Given the description of an element on the screen output the (x, y) to click on. 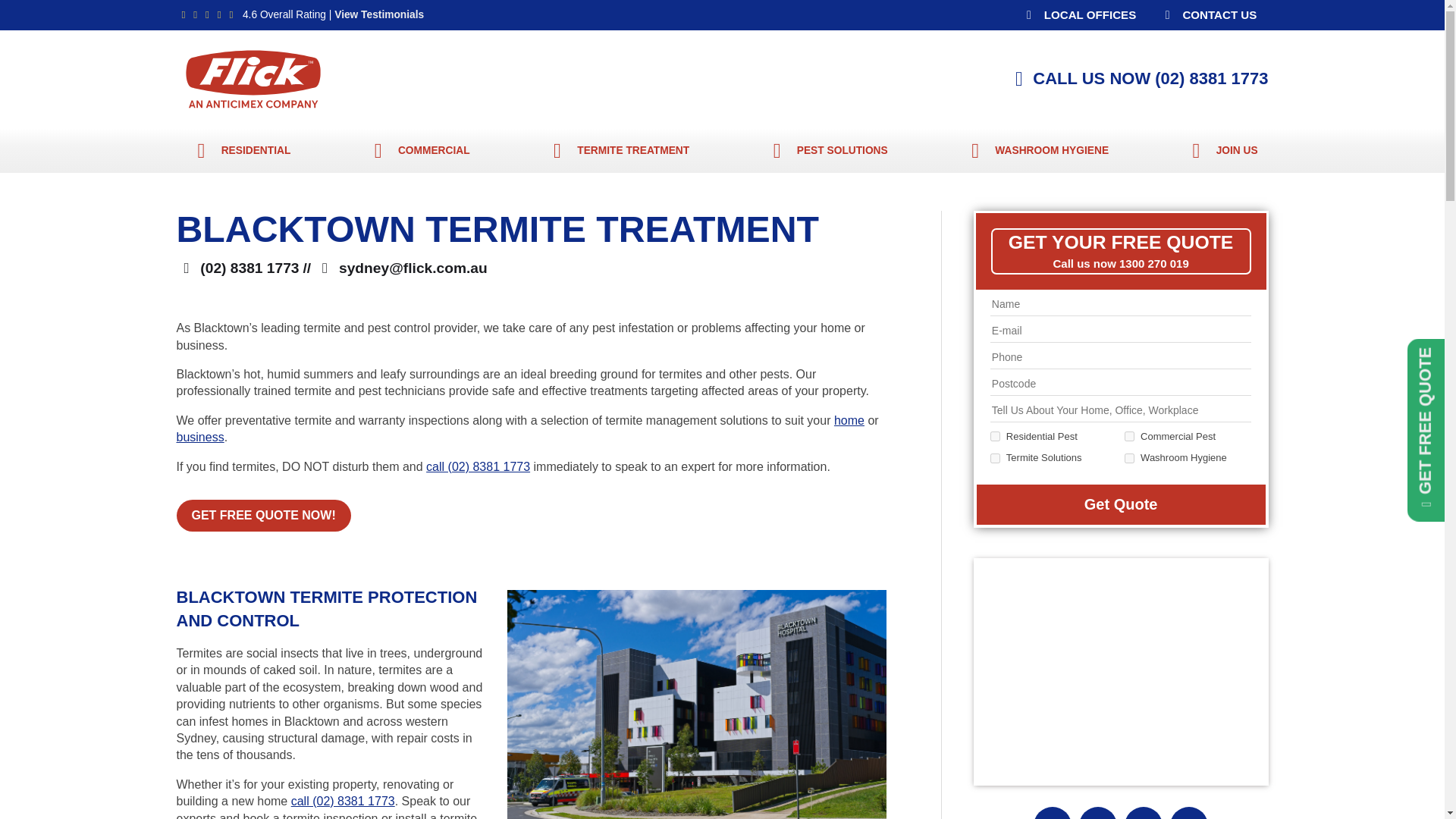
RESIDENTIAL (238, 150)
Contact us today! (1207, 15)
LOCAL OFFICES (1078, 15)
Flick Pest Control Instagram (1097, 815)
Termite Solutions (995, 458)
Commercial Pest (1129, 436)
CONTACT US (1207, 15)
Washroom Hygiene (1129, 458)
Flick Pest Control Facebook (1052, 815)
Flick Pest Control Youtube (1144, 815)
